Given the description of an element on the screen output the (x, y) to click on. 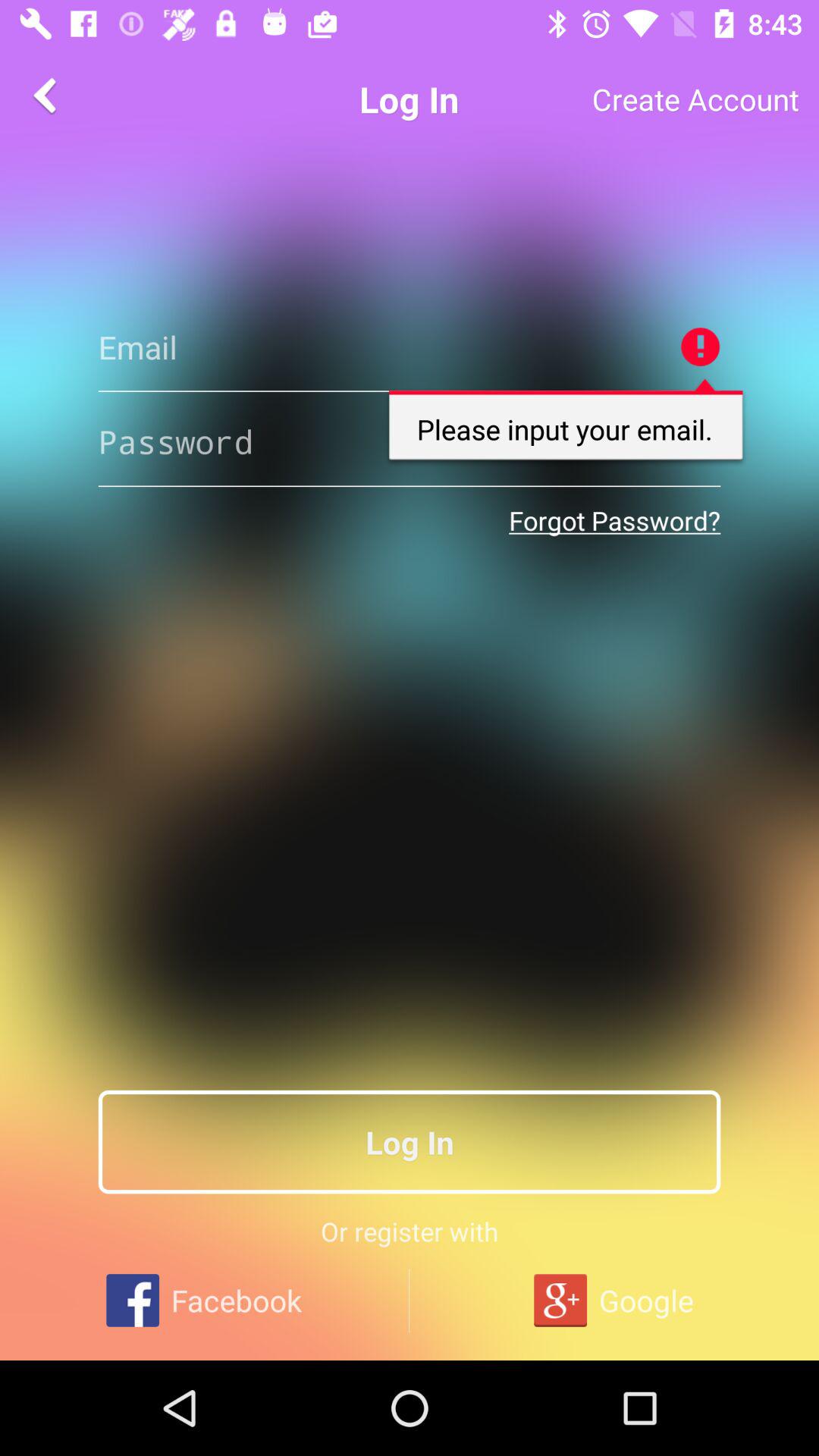
enter email address (409, 347)
